Given the description of an element on the screen output the (x, y) to click on. 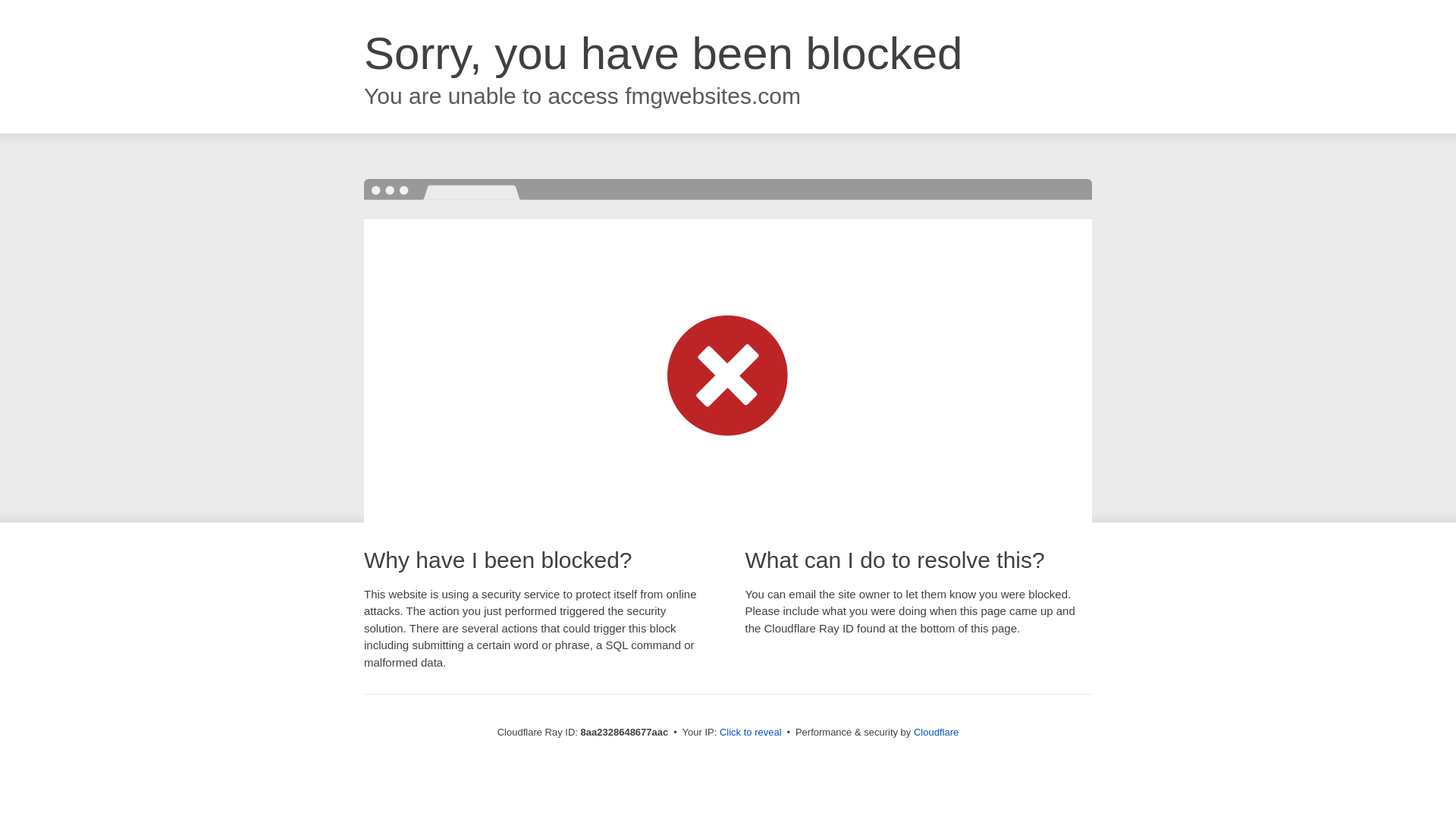
Cloudflare (936, 731)
Click to reveal (750, 732)
